Given the description of an element on the screen output the (x, y) to click on. 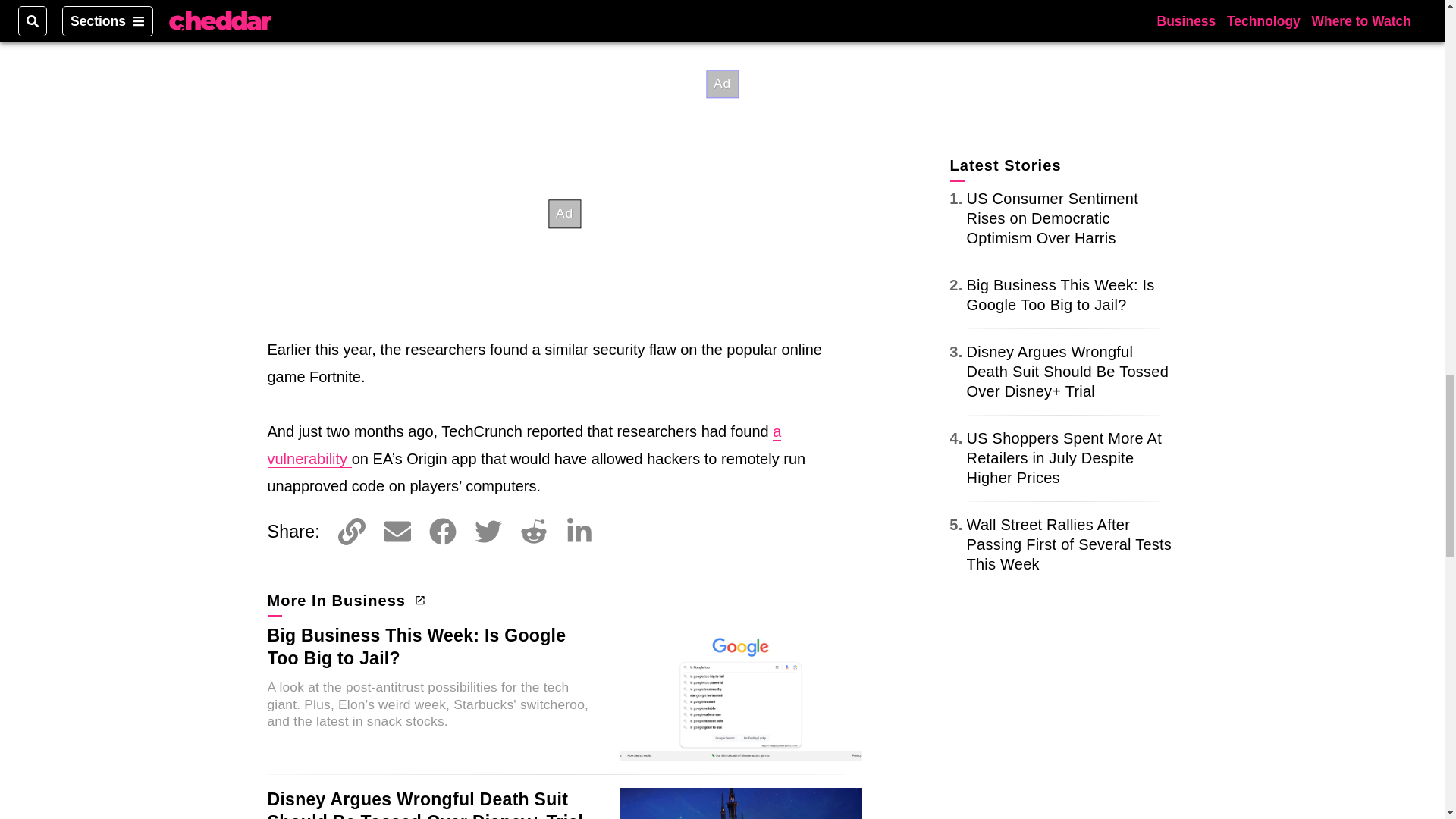
More In Business (344, 600)
Big Business This Week: Is Google Too Big to Jail? (416, 646)
a vulnerability (523, 445)
